Given the description of an element on the screen output the (x, y) to click on. 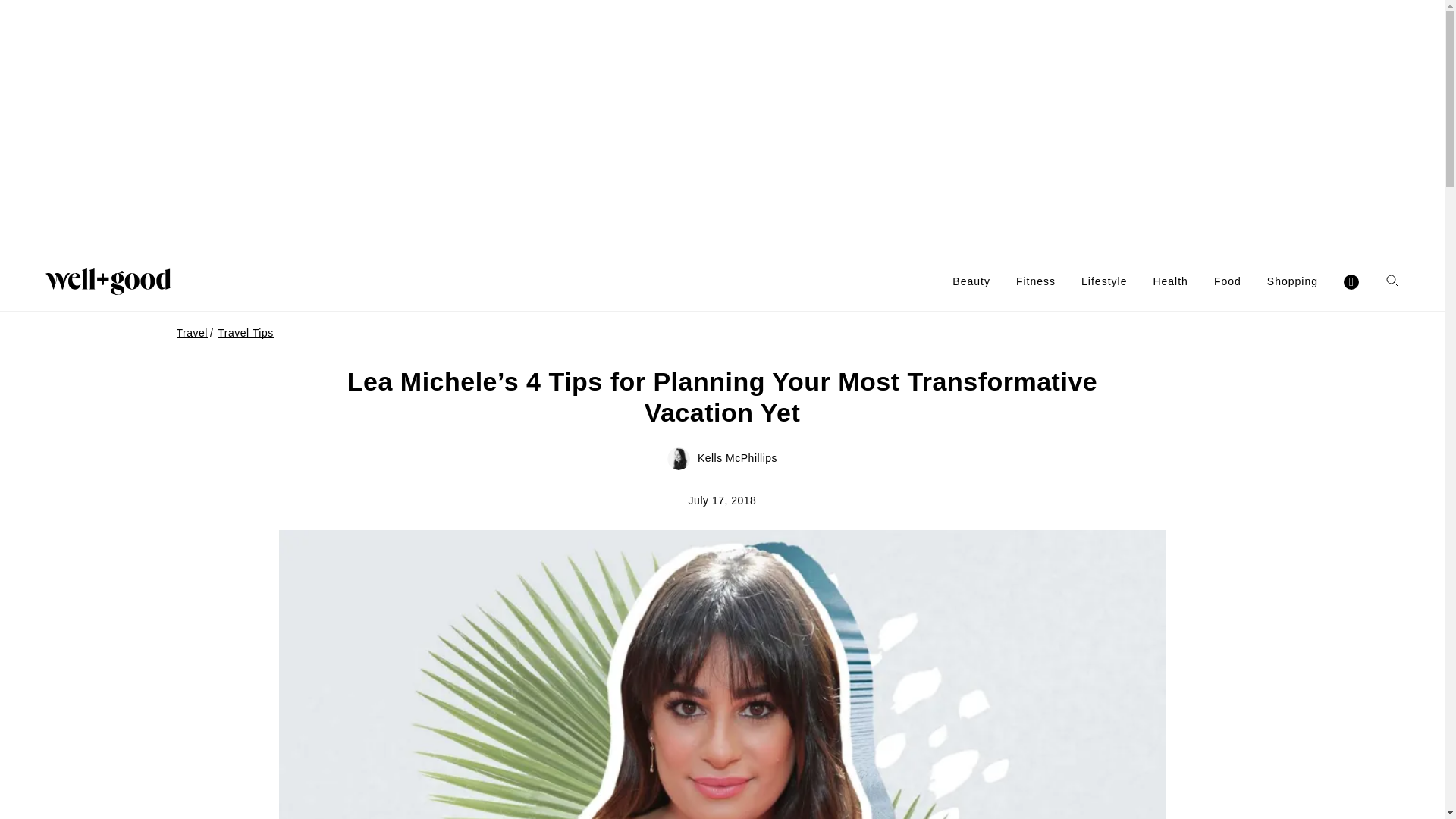
Beauty (971, 281)
Fitness (1035, 281)
Shopping (1291, 281)
Health (1170, 281)
Food (1227, 281)
Lifestyle (1103, 281)
